Given the description of an element on the screen output the (x, y) to click on. 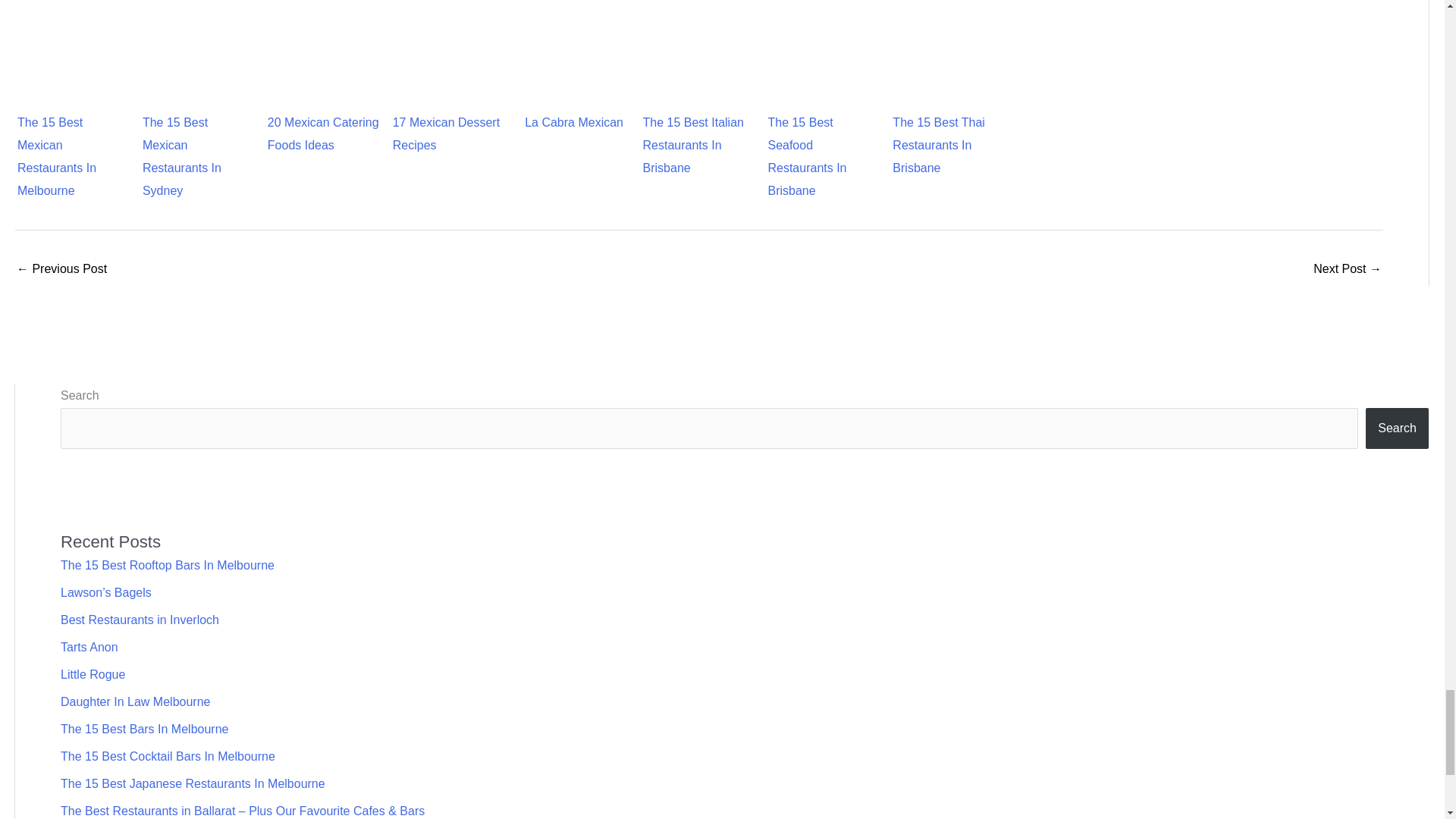
The 15 Best Mexican Restaurants In Sydney (199, 36)
The 15 Best Thai Restaurants In Brisbane (949, 36)
20 Mexican Catering Foods Ideas (323, 55)
The 15 Best Rooftop Bars In Brisbane (61, 270)
The 15 Best Mexican Restaurants In Melbourne (74, 30)
La Cabra Mexican (574, 55)
17 Mexican Dessert Recipes (449, 55)
The 15 Best Italian Restaurants In Brisbane (699, 41)
The 15 Best Seafood Restaurants In Brisbane (823, 36)
